Given the description of an element on the screen output the (x, y) to click on. 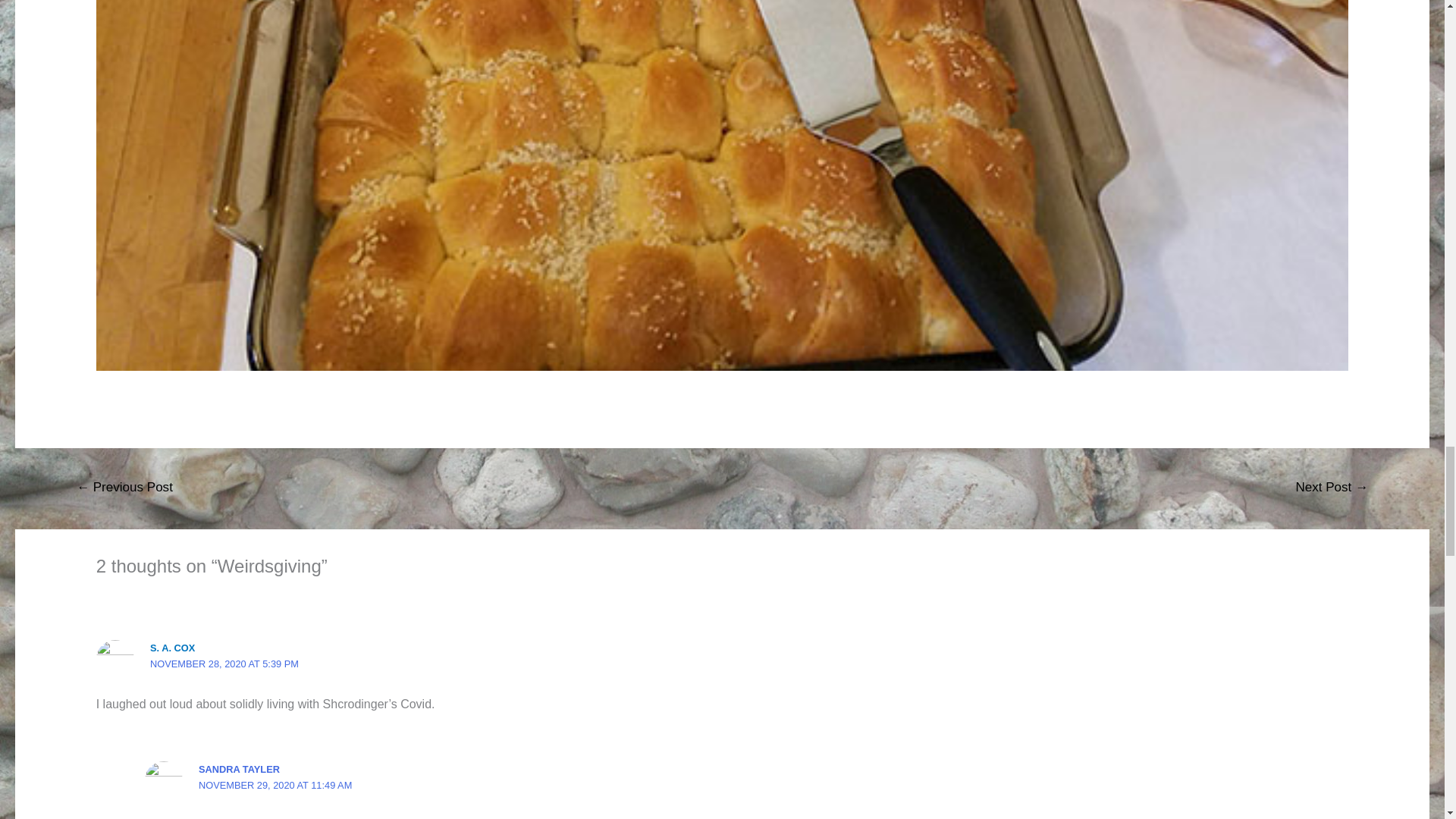
NOVEMBER 28, 2020 AT 5:39 PM (223, 663)
NOVEMBER 29, 2020 AT 11:49 AM (275, 785)
SANDRA TAYLER (238, 768)
